Given the description of an element on the screen output the (x, y) to click on. 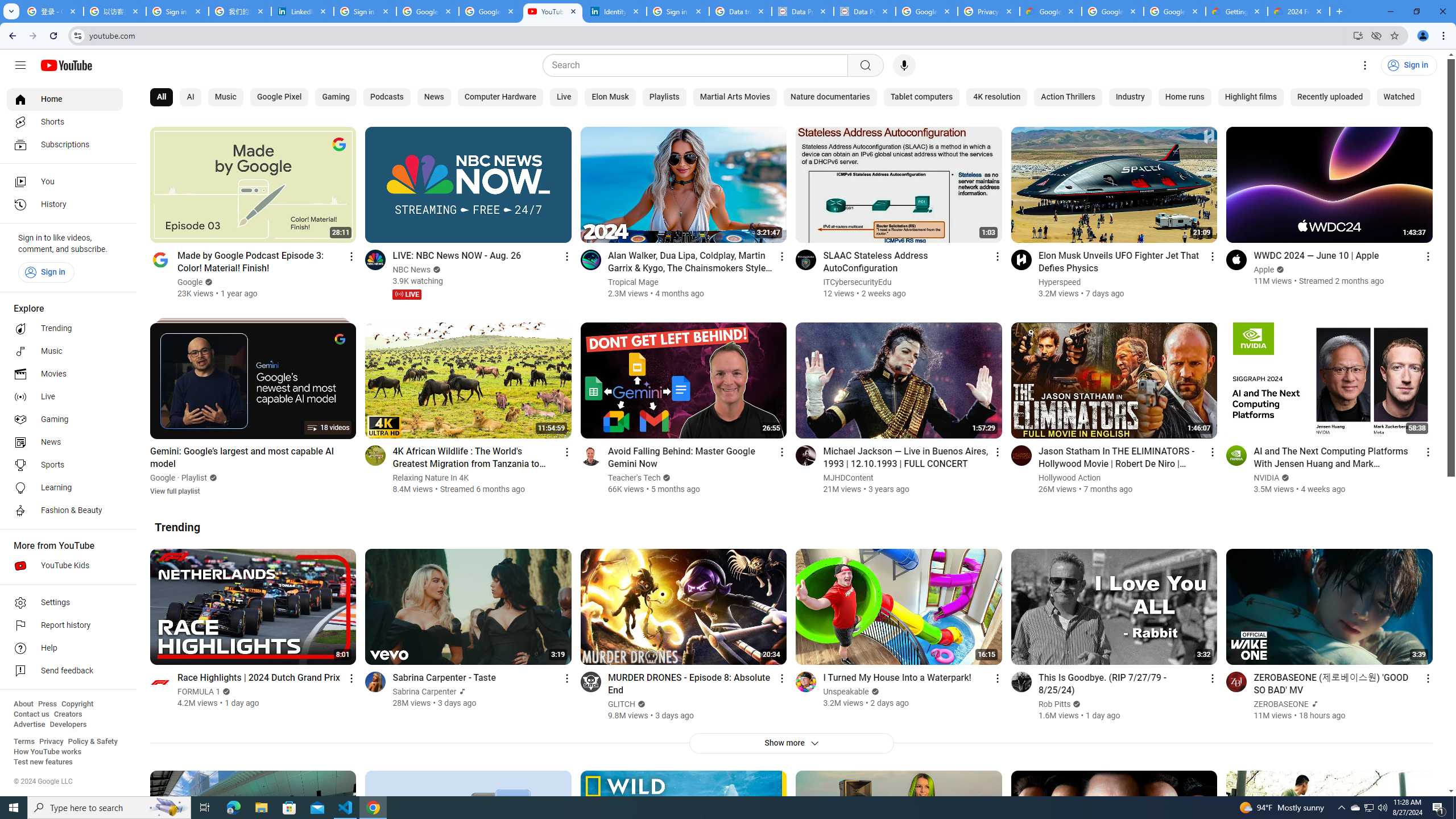
YouTube Kids (64, 565)
Fashion & Beauty (64, 510)
Sign in - Google Accounts (365, 11)
Hollywood Action (1070, 477)
Google Cloud Terms Directory | Google Cloud (1050, 11)
Verified (1075, 704)
Action Thrillers (1067, 97)
YouTube (552, 11)
How YouTube works (47, 751)
